Given the description of an element on the screen output the (x, y) to click on. 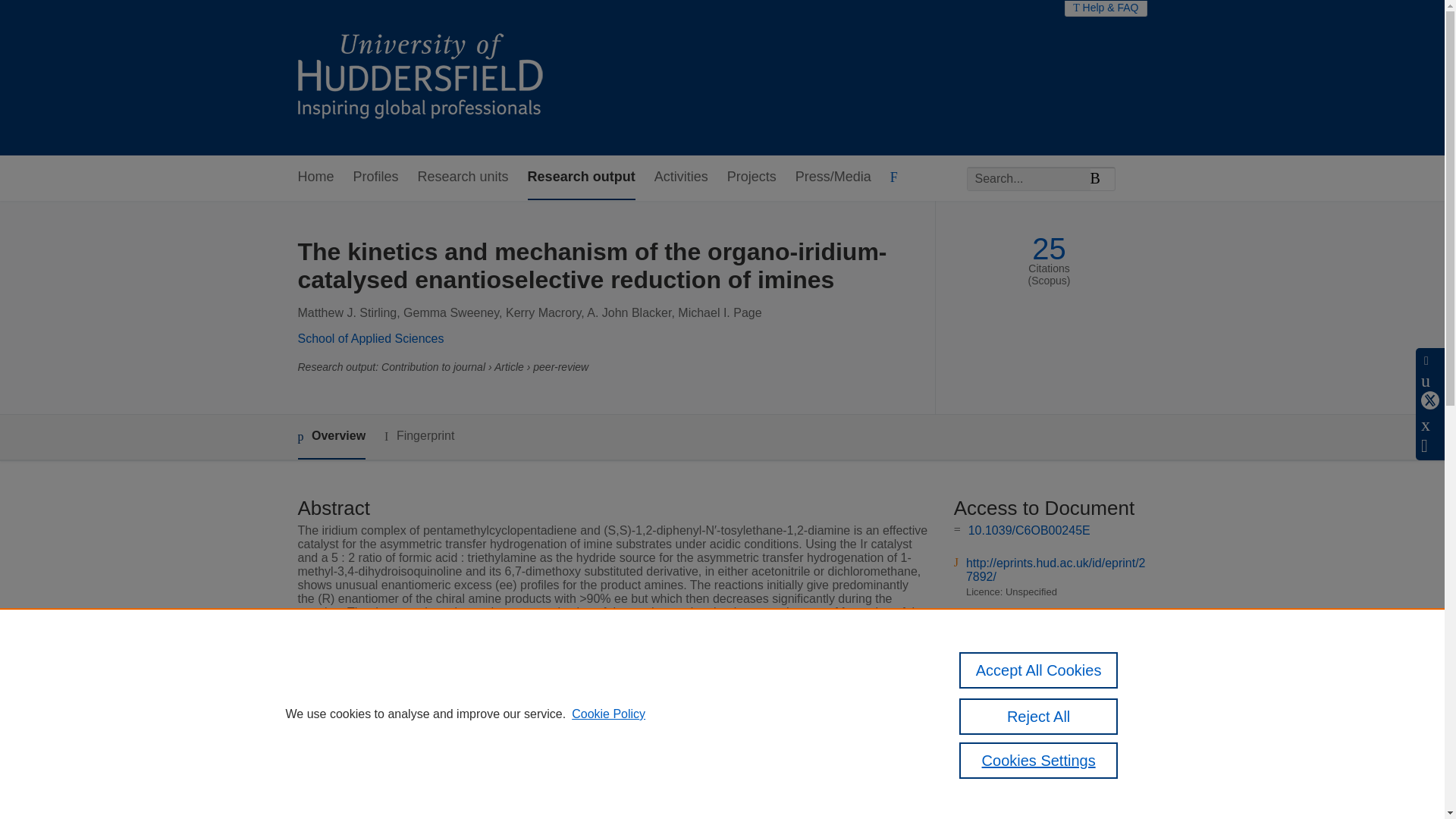
University of Huddersfield Research Portal Home (431, 77)
Profiles (375, 177)
Overview (331, 436)
Projects (751, 177)
Fingerprint (419, 435)
Research units (462, 177)
Activities (680, 177)
School of Applied Sciences (370, 338)
Organic and Biomolecular Chemistry (605, 784)
